Given the description of an element on the screen output the (x, y) to click on. 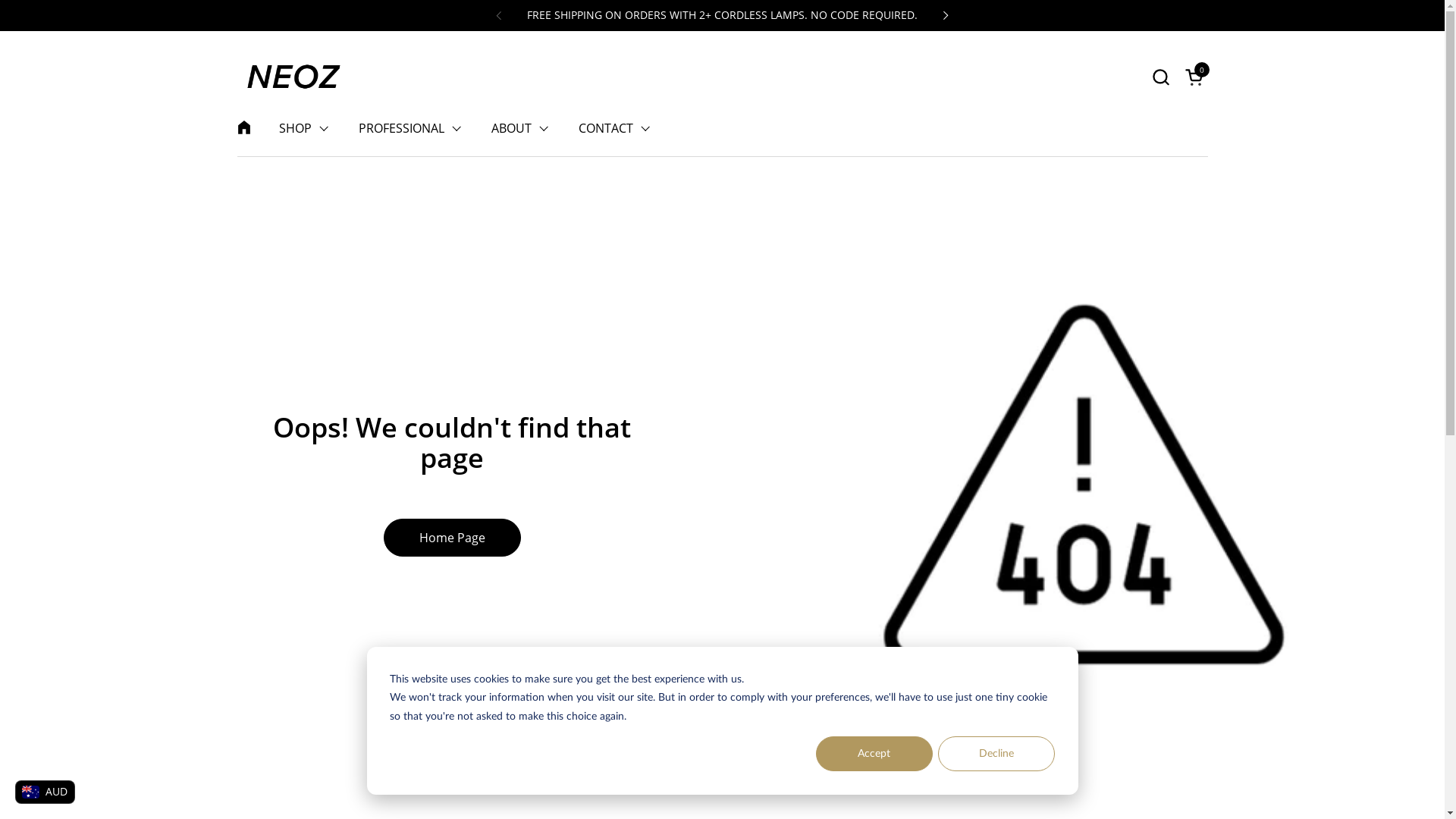
CONTACT Element type: text (613, 127)
SHOP Element type: text (303, 127)
ABOUT Element type: text (519, 127)
Accept Element type: text (873, 753)
PROFESSIONAL Element type: text (408, 127)
Open cart
0 Element type: text (1195, 75)
Open search Element type: hover (1160, 75)
Home Page Element type: text (451, 537)
Decline Element type: text (996, 753)
NEOZ Lighting Element type: hover (292, 76)
Skip to content Element type: text (0, 0)
